Given the description of an element on the screen output the (x, y) to click on. 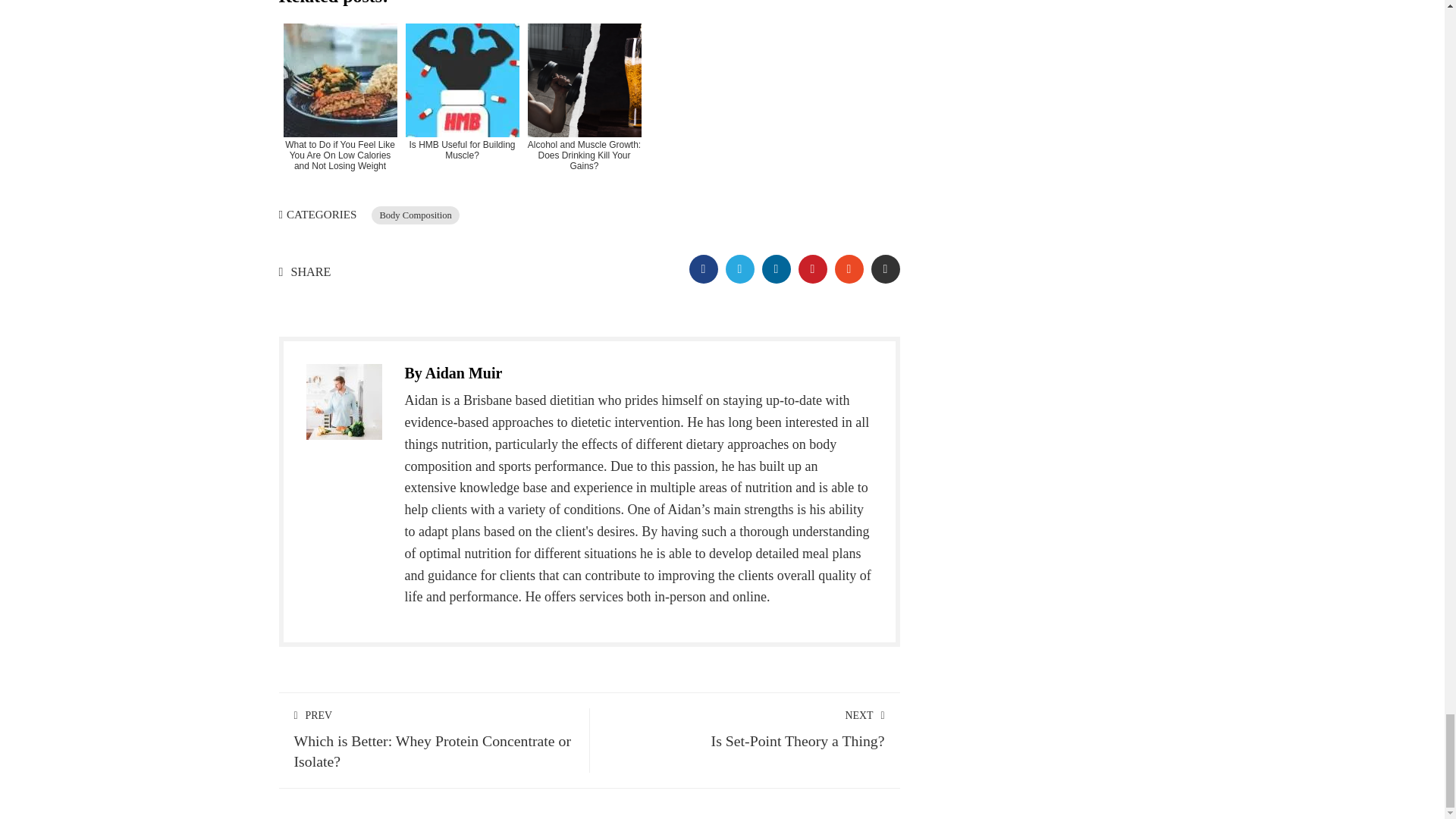
LINKEDIN (775, 268)
Body Composition (415, 215)
TWITTER (739, 268)
FACEBOOK (702, 268)
